Given the description of an element on the screen output the (x, y) to click on. 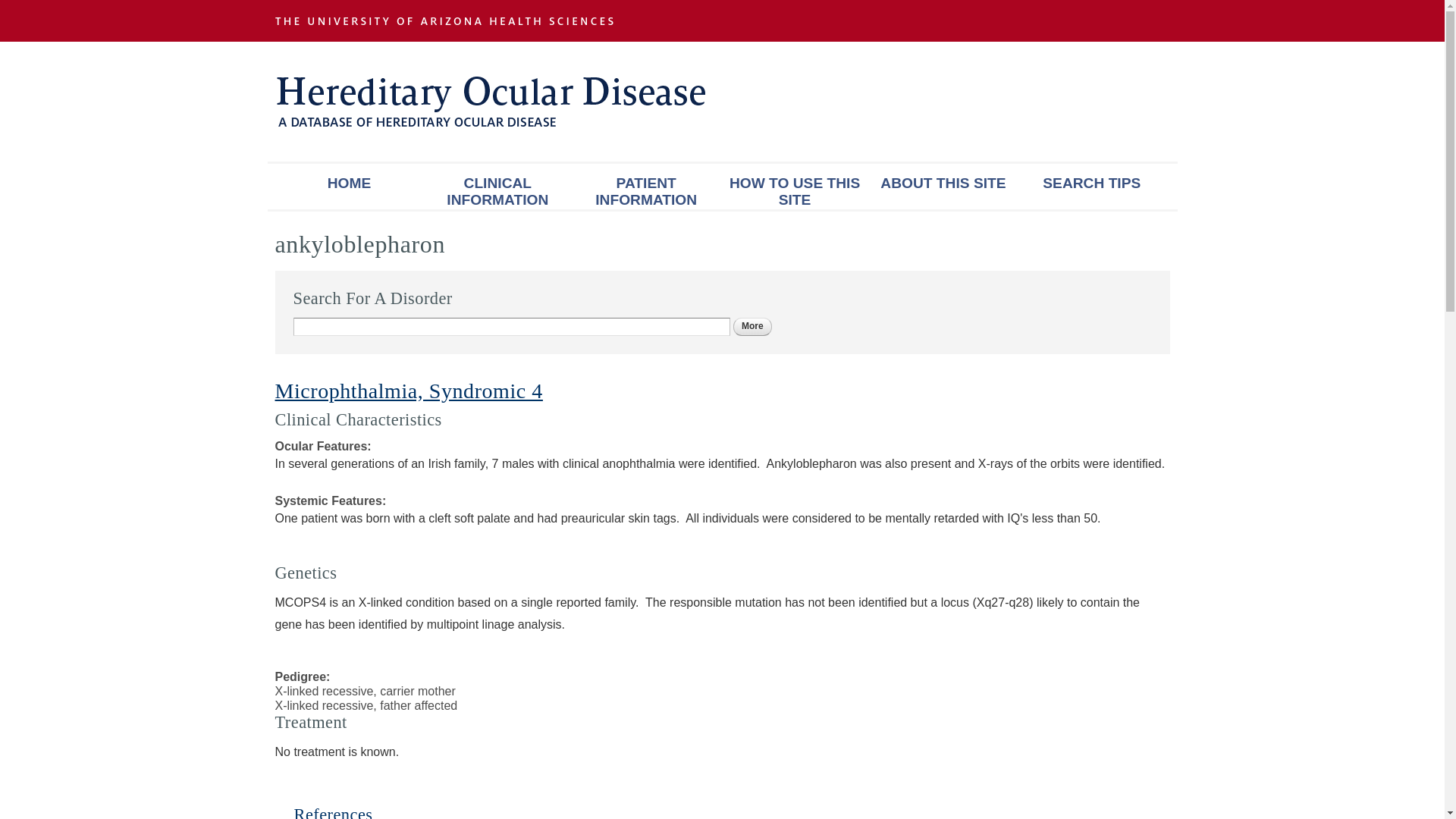
A Point-Of-Service Website For Hereditary Ocular Disease (943, 186)
More (752, 325)
SEARCH TIPS (1091, 186)
More (752, 325)
PATIENT INFORMATION (333, 812)
How To Use This Site (646, 186)
CLINICAL INFORMATION (794, 186)
HOME (497, 186)
Microphthalmia, Syndromic 4 (349, 186)
